Given the description of an element on the screen output the (x, y) to click on. 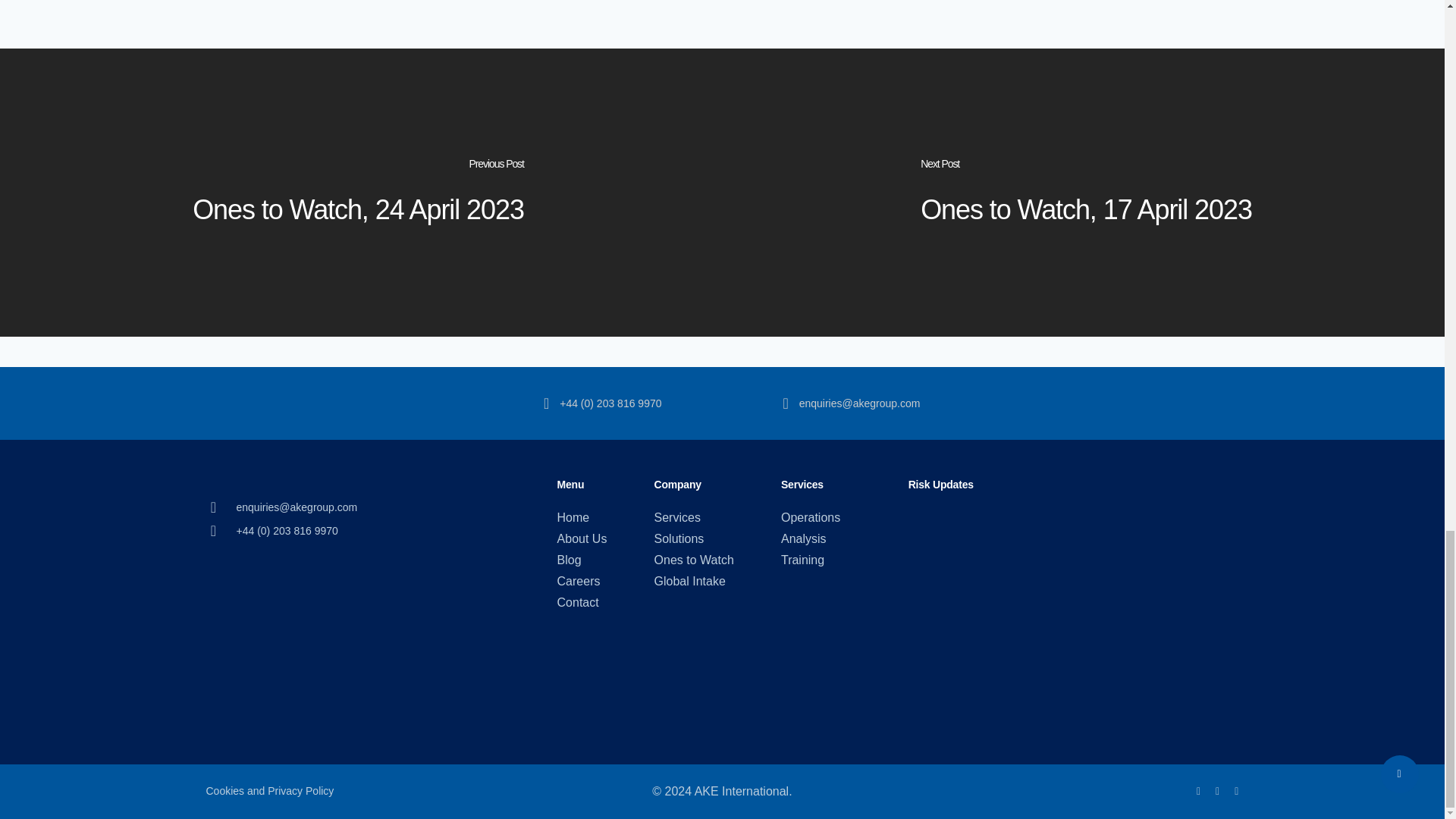
About Us (582, 538)
Blog (582, 559)
Home (582, 516)
